Given the description of an element on the screen output the (x, y) to click on. 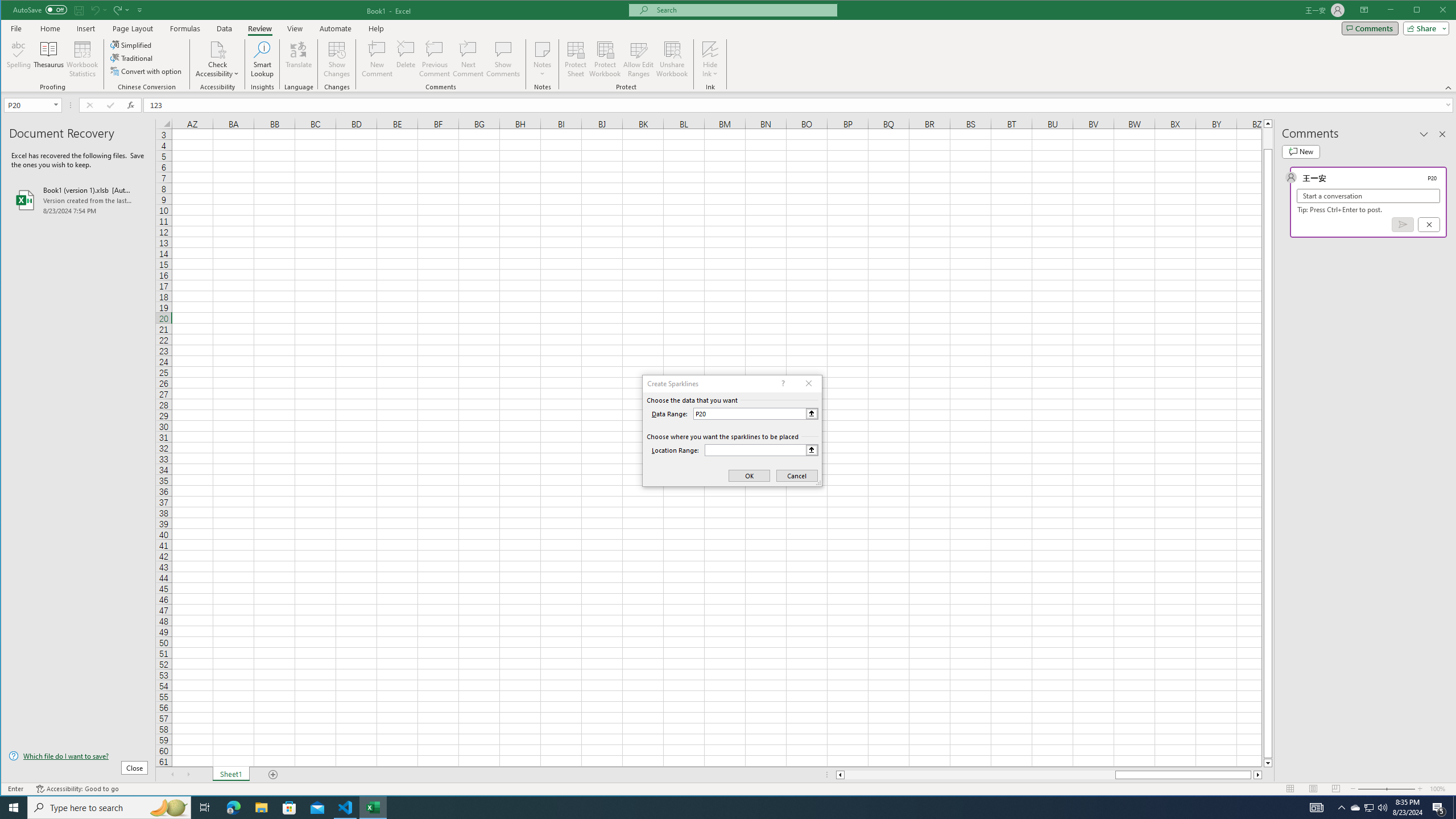
Check Accessibility (217, 48)
Page left (979, 774)
Show Changes (335, 59)
Notes (541, 59)
Show Comments (502, 59)
